Given the description of an element on the screen output the (x, y) to click on. 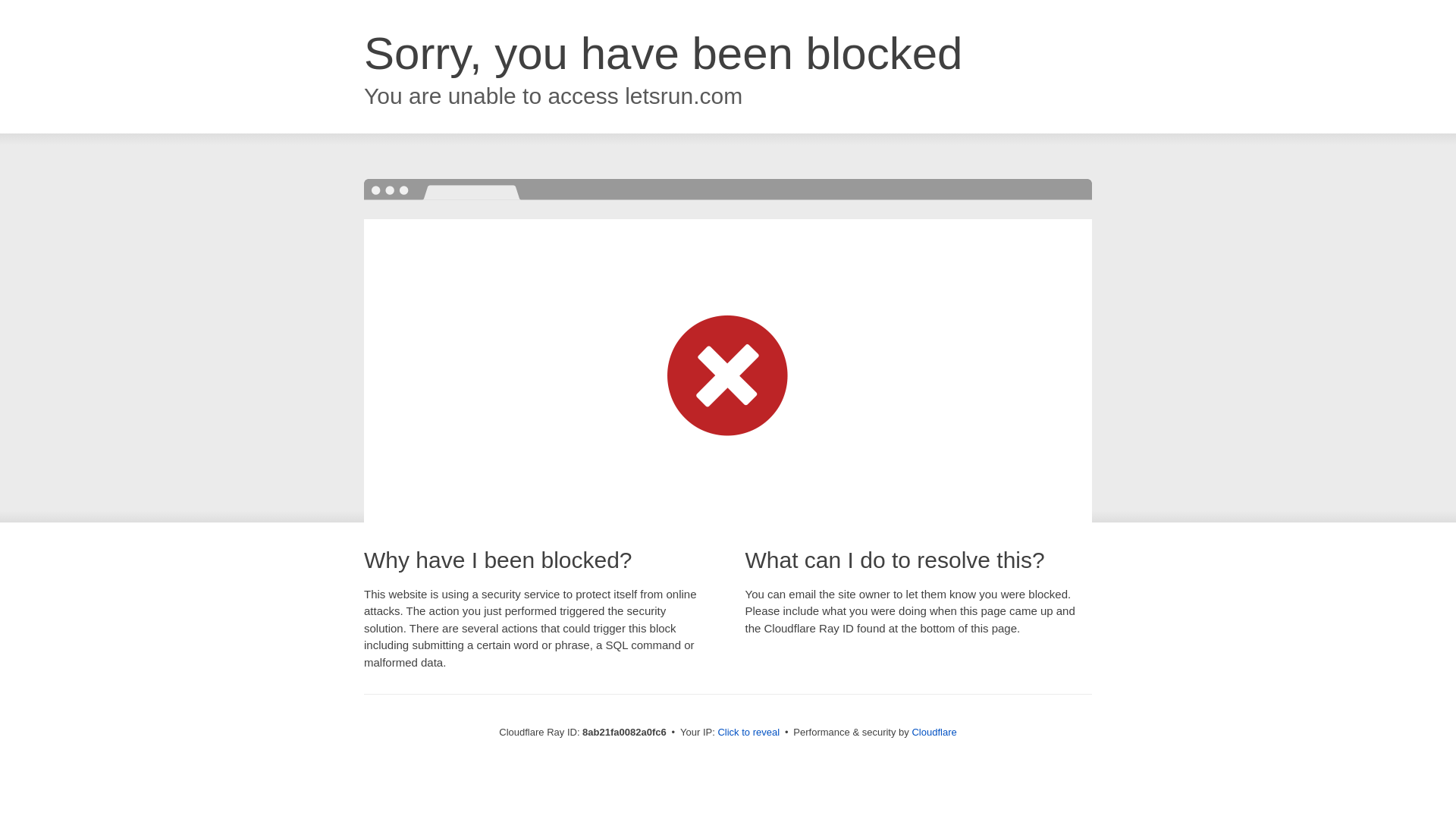
Click to reveal (747, 732)
Cloudflare (933, 731)
